Given the description of an element on the screen output the (x, y) to click on. 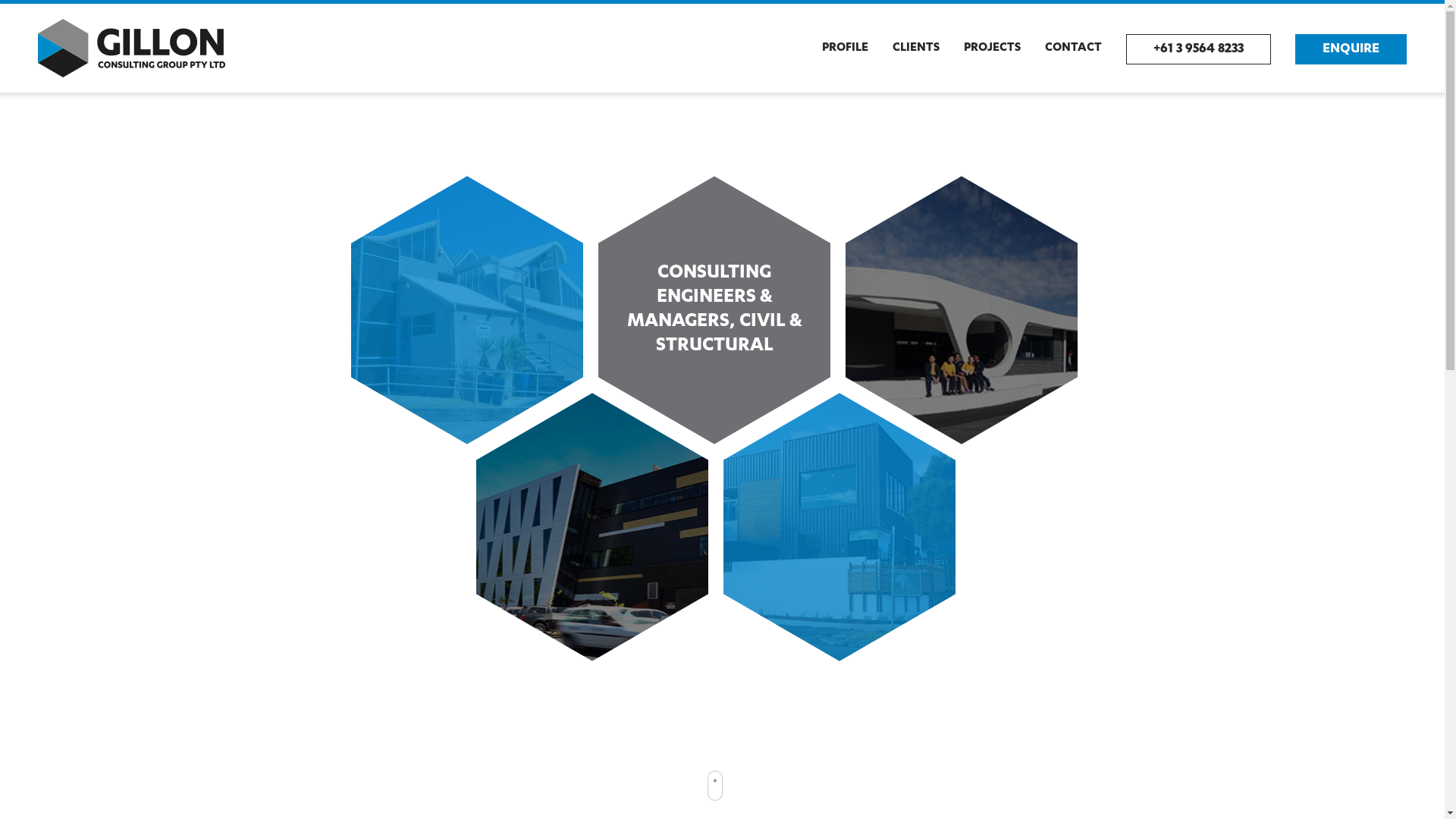
CLIENTS Element type: text (915, 48)
+61 3 9564 8233 Element type: text (1198, 49)
ENQUIRE Element type: text (1350, 49)
Gillon Consulting Group Element type: hover (131, 47)
PROFILE Element type: text (845, 48)
PROJECTS Element type: text (991, 48)
CONTACT Element type: text (1072, 48)
